Given the description of an element on the screen output the (x, y) to click on. 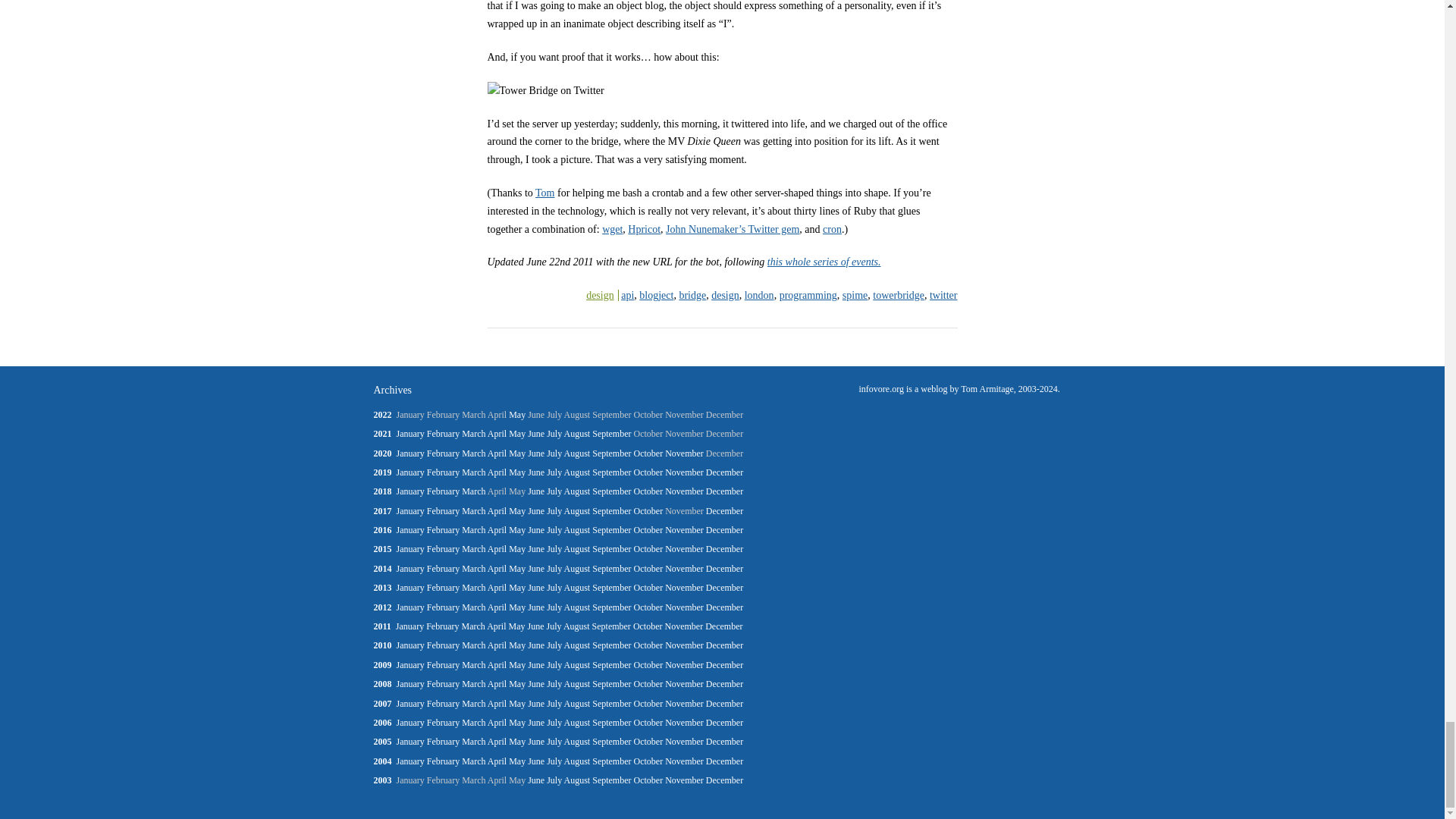
May 2021 (516, 433)
March 2020 (472, 452)
February 2021 (443, 433)
August 2021 (577, 433)
January 2020 (409, 452)
May 2022 (516, 414)
May 2020 (516, 452)
January 2021 (409, 433)
June 2020 (535, 452)
April 2020 (496, 452)
June 2021 (535, 433)
March 2021 (472, 433)
April 2021 (496, 433)
July 2021 (554, 433)
September 2021 (611, 433)
